Given the description of an element on the screen output the (x, y) to click on. 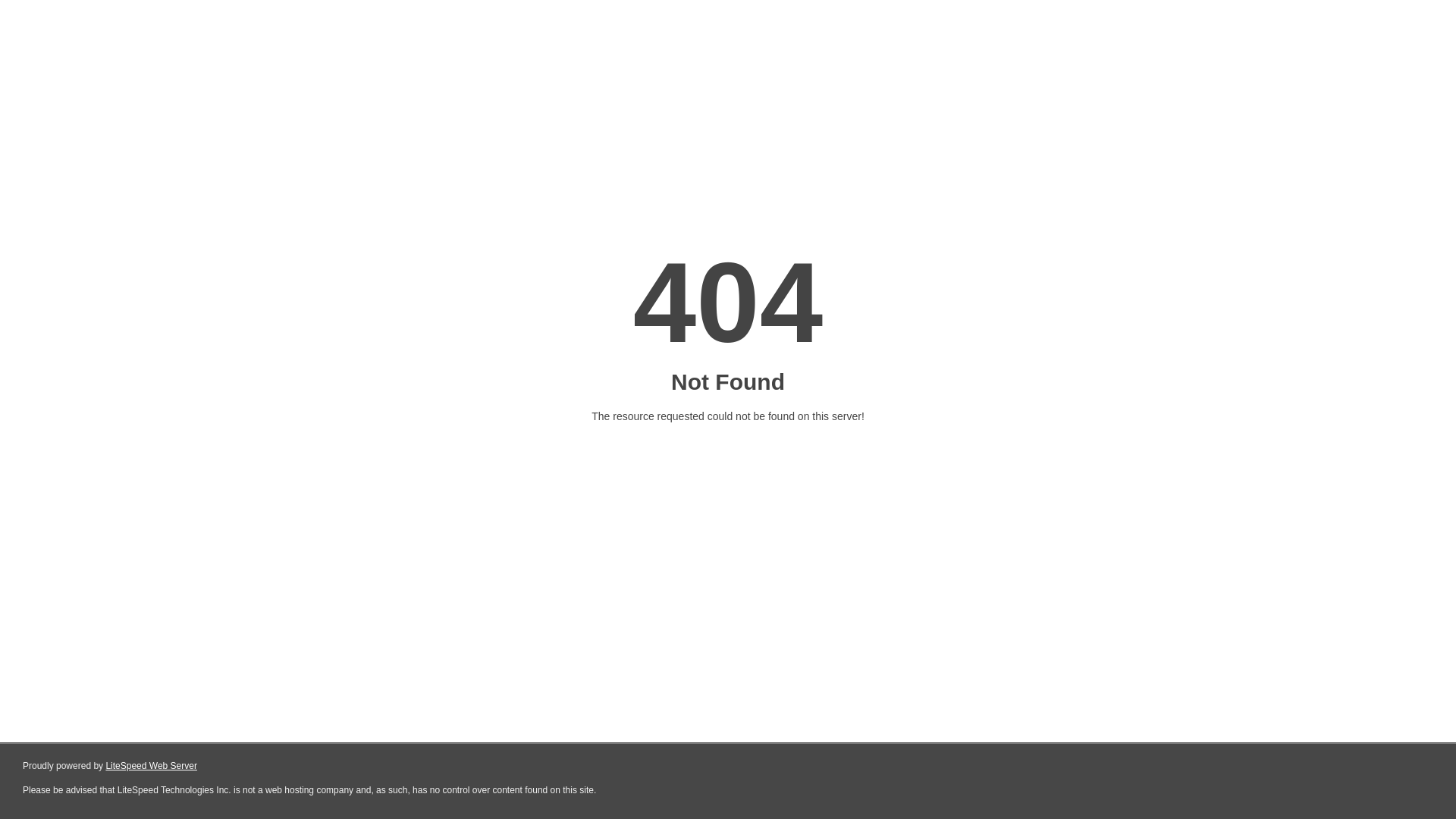
LiteSpeed Web Server Element type: text (151, 765)
